Given the description of an element on the screen output the (x, y) to click on. 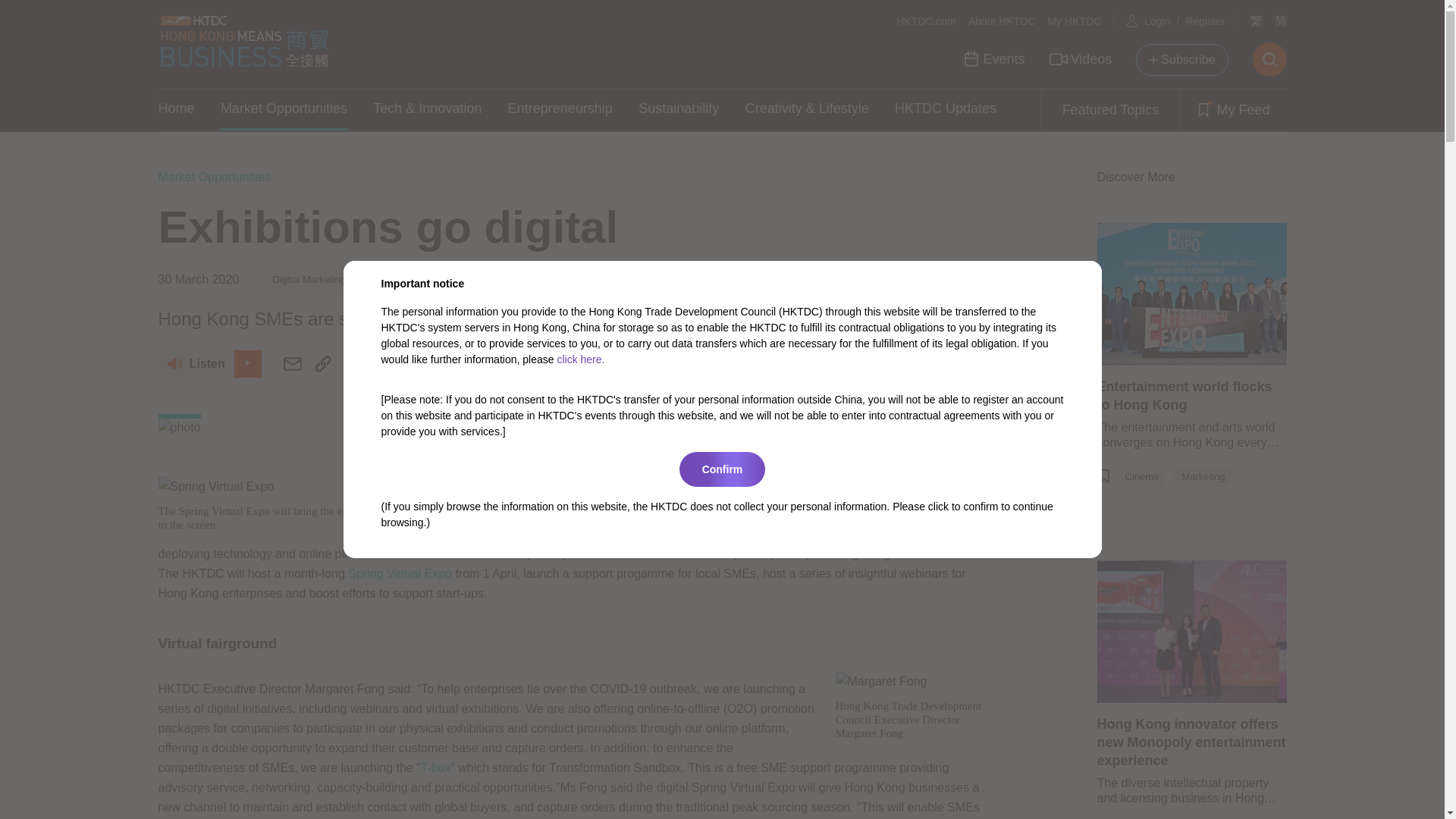
E-Commerce (397, 279)
HKTDC Updates (945, 109)
Videos (1080, 59)
Events (993, 59)
Digital Marketing (309, 279)
Market Opportunities (284, 109)
Entrepreneurship (560, 109)
Margaret Fong (881, 681)
My HKTDC (1073, 21)
Online Marketplace (493, 279)
